Given the description of an element on the screen output the (x, y) to click on. 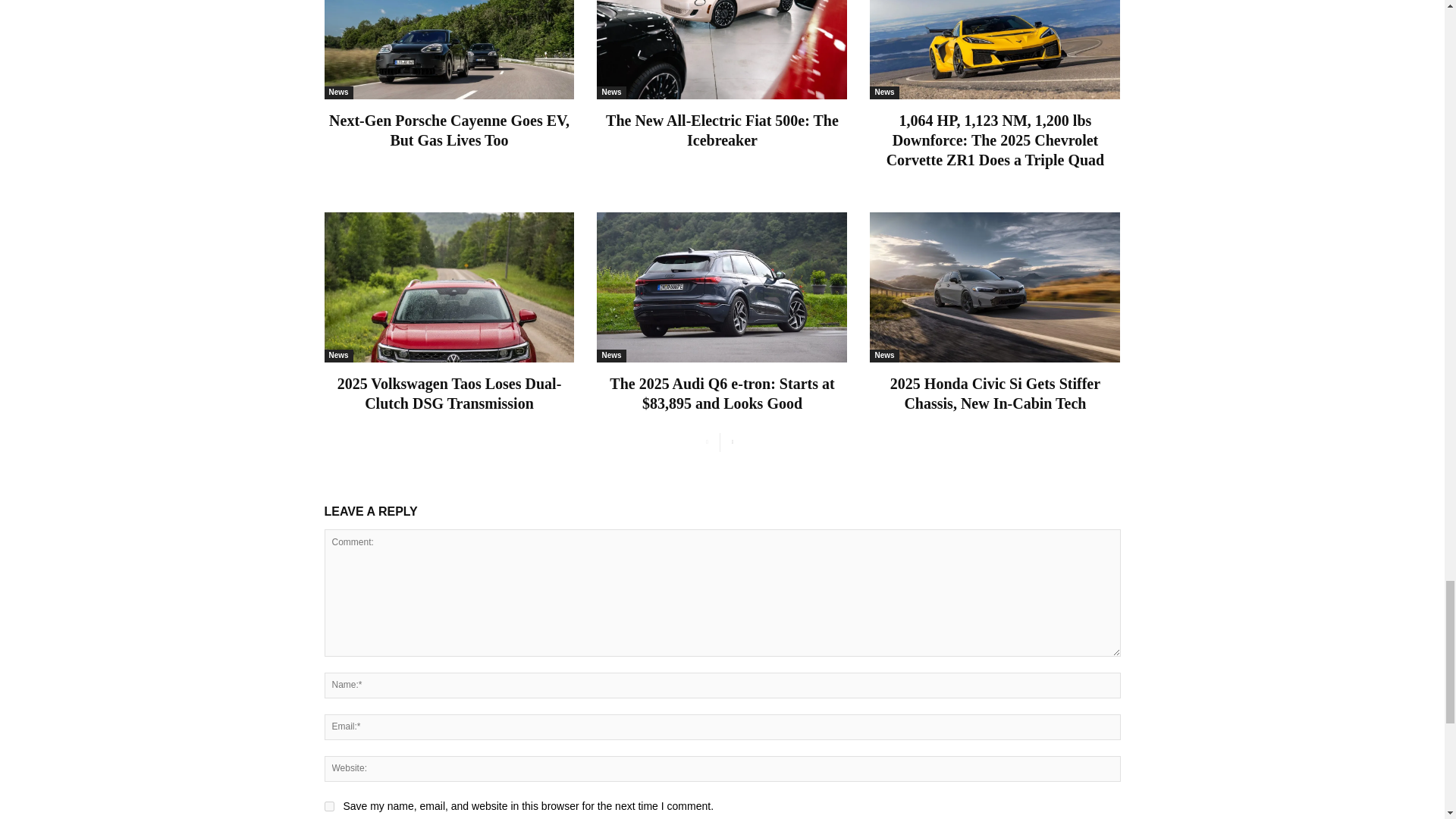
yes (329, 805)
